Given the description of an element on the screen output the (x, y) to click on. 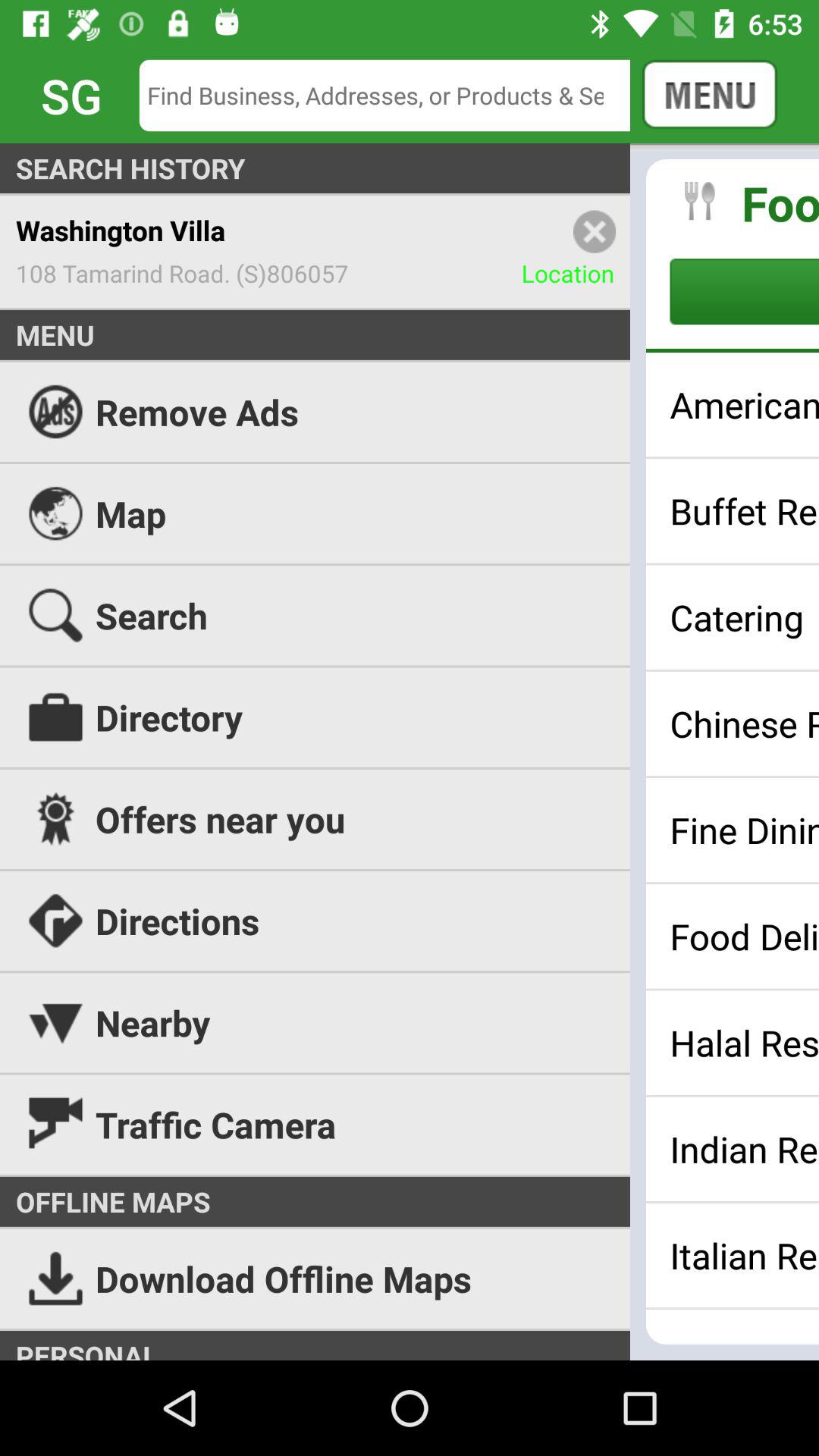
scroll until chinese restaurants icon (744, 723)
